Given the description of an element on the screen output the (x, y) to click on. 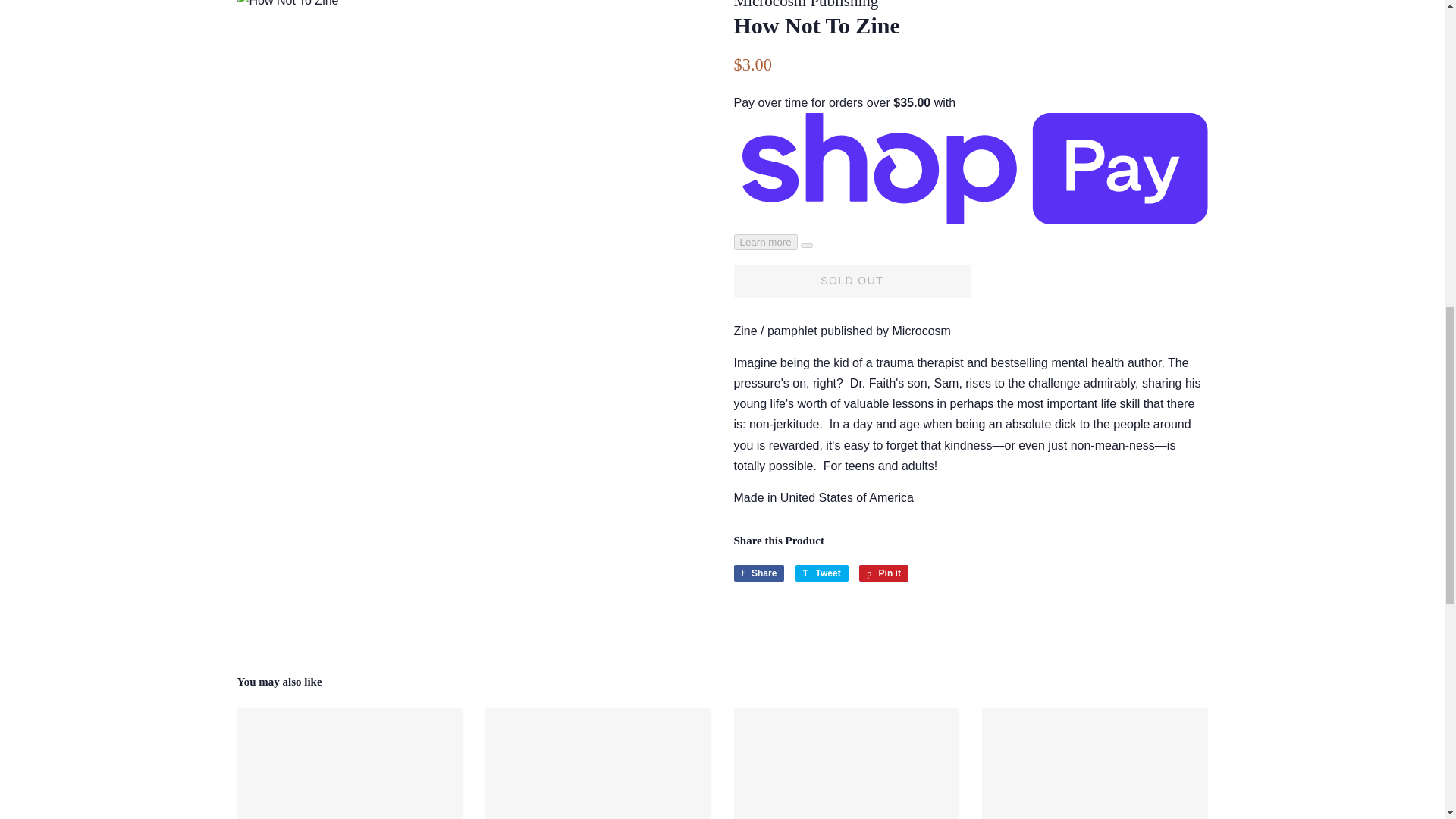
Tweet on Twitter (821, 573)
Pin on Pinterest (883, 573)
Share on Facebook (758, 573)
